Given the description of an element on the screen output the (x, y) to click on. 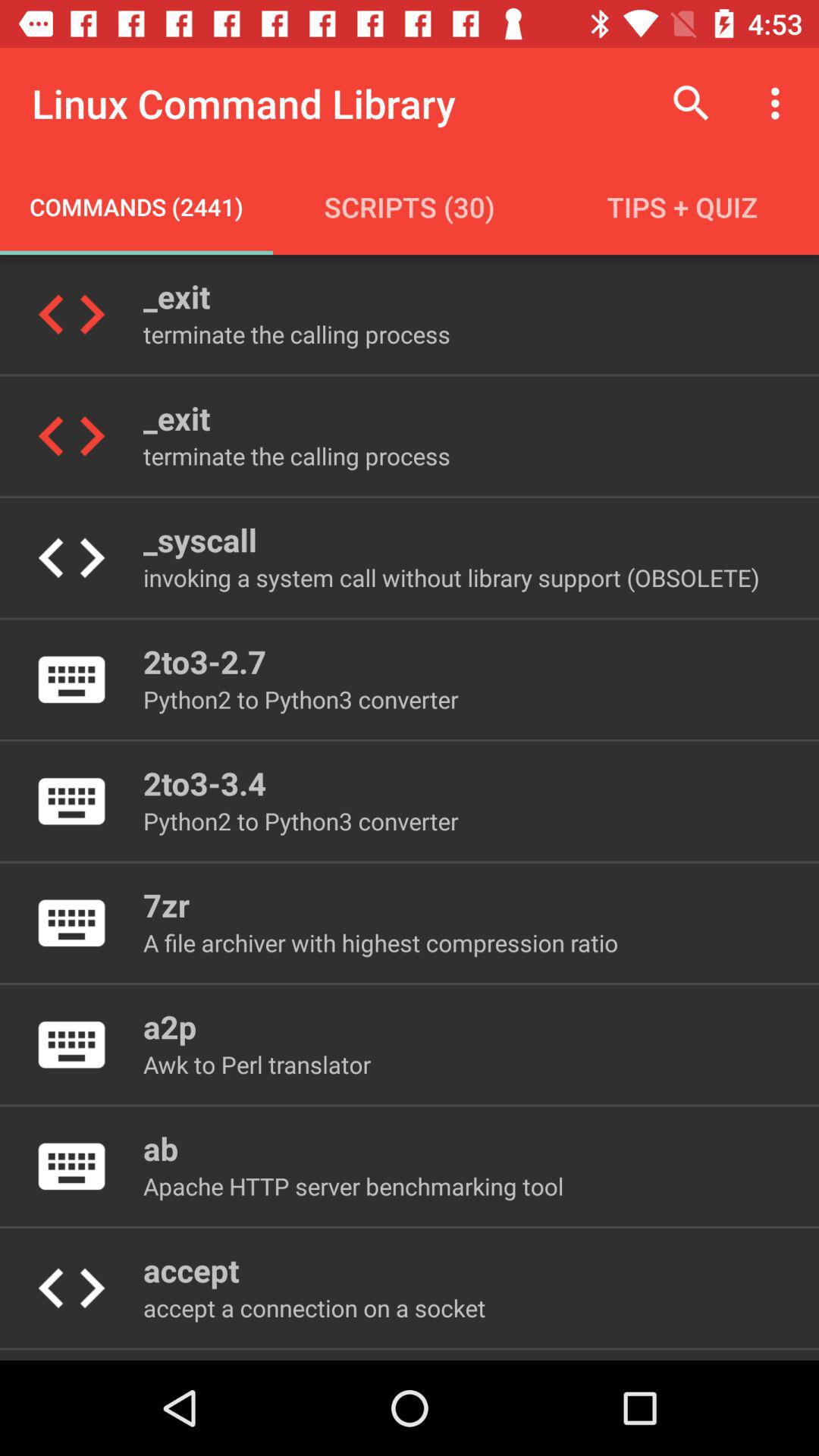
press item below ab (353, 1185)
